Given the description of an element on the screen output the (x, y) to click on. 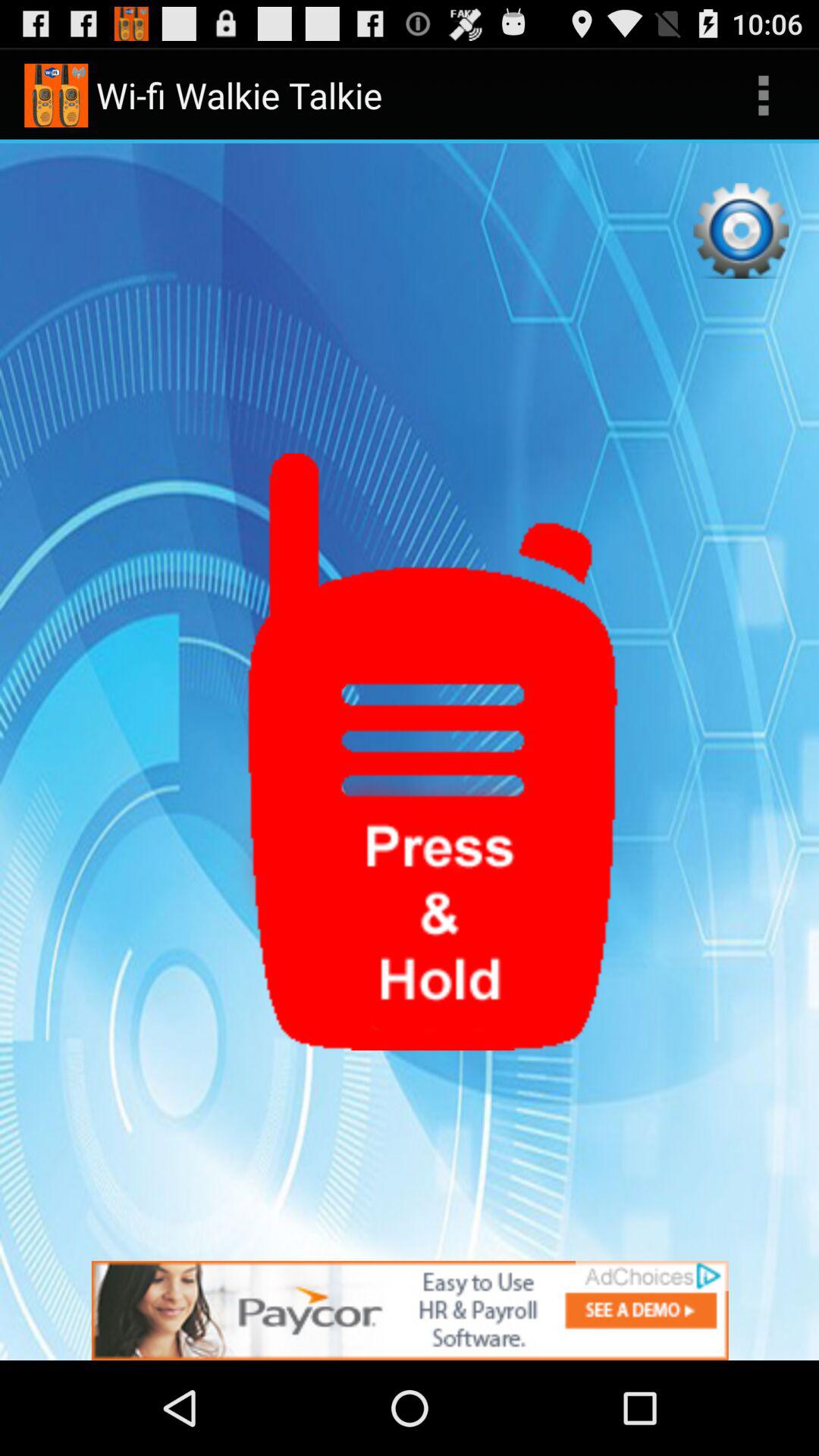
go to advertisement option (409, 1310)
